Given the description of an element on the screen output the (x, y) to click on. 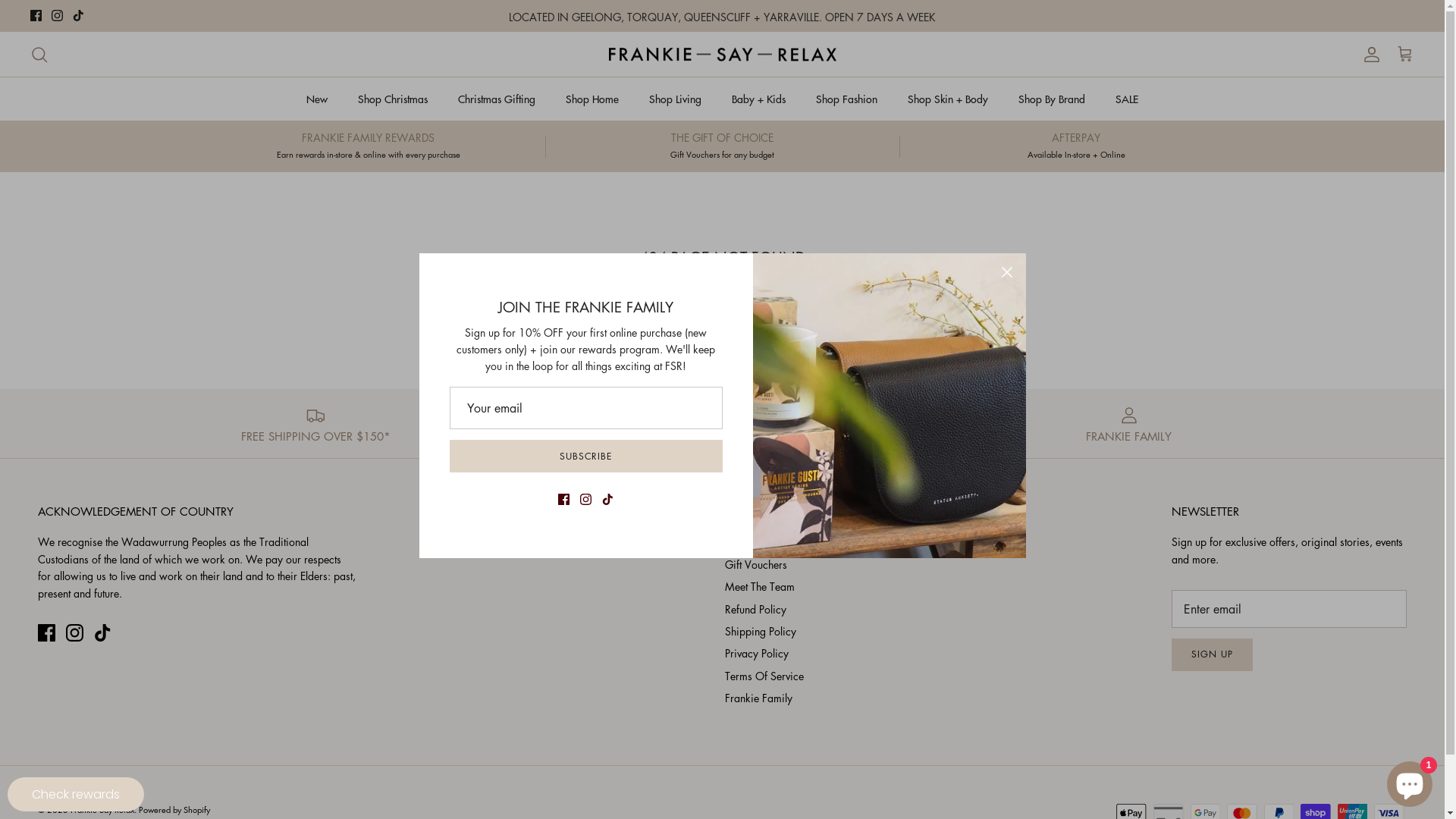
Meet The Team Element type: text (759, 585)
SALE Element type: text (1126, 98)
FRANKIE FAMILY Element type: text (1128, 423)
Cart Element type: text (1405, 54)
Facebook Element type: text (46, 632)
Shopify online store chat Element type: hover (1409, 780)
Frankie Family Element type: text (758, 697)
Shop Fashion Element type: text (846, 98)
E-GIFT VOUCHERS Element type: text (858, 423)
Shop Skin + Body Element type: text (947, 98)
Refund Policy Element type: text (755, 608)
Account Element type: text (1368, 54)
THE GIFT OF CHOICE
Gift Vouchers for any budget Element type: text (722, 145)
Shop Living Element type: text (675, 98)
Instagram Element type: text (56, 15)
Shop Home Element type: text (592, 98)
Instagram Element type: text (74, 632)
New Element type: text (316, 98)
SIGN UP Element type: text (1211, 654)
Facebook Element type: text (35, 15)
Shop By Brand Element type: text (1051, 98)
home page Element type: text (753, 304)
Shipping Policy Element type: text (760, 630)
STORE LOCATIONS Element type: text (586, 423)
try a search Element type: text (822, 304)
Contact Us Element type: text (749, 541)
Search Element type: text (39, 54)
Baby + Kids Element type: text (758, 98)
Frankie Say Relax Element type: hover (721, 54)
Christmas Gifting Element type: text (496, 98)
Powered by Shopify Element type: text (174, 809)
Gift Vouchers Element type: text (755, 563)
Frankie Say Relax Element type: text (102, 809)
Shop Christmas Element type: text (392, 98)
Privacy Policy Element type: text (756, 652)
SUBSCRIBE Element type: text (584, 455)
Terms Of Service Element type: text (763, 675)
FREE SHIPPING OVER $150* Element type: text (315, 423)
